Given the description of an element on the screen output the (x, y) to click on. 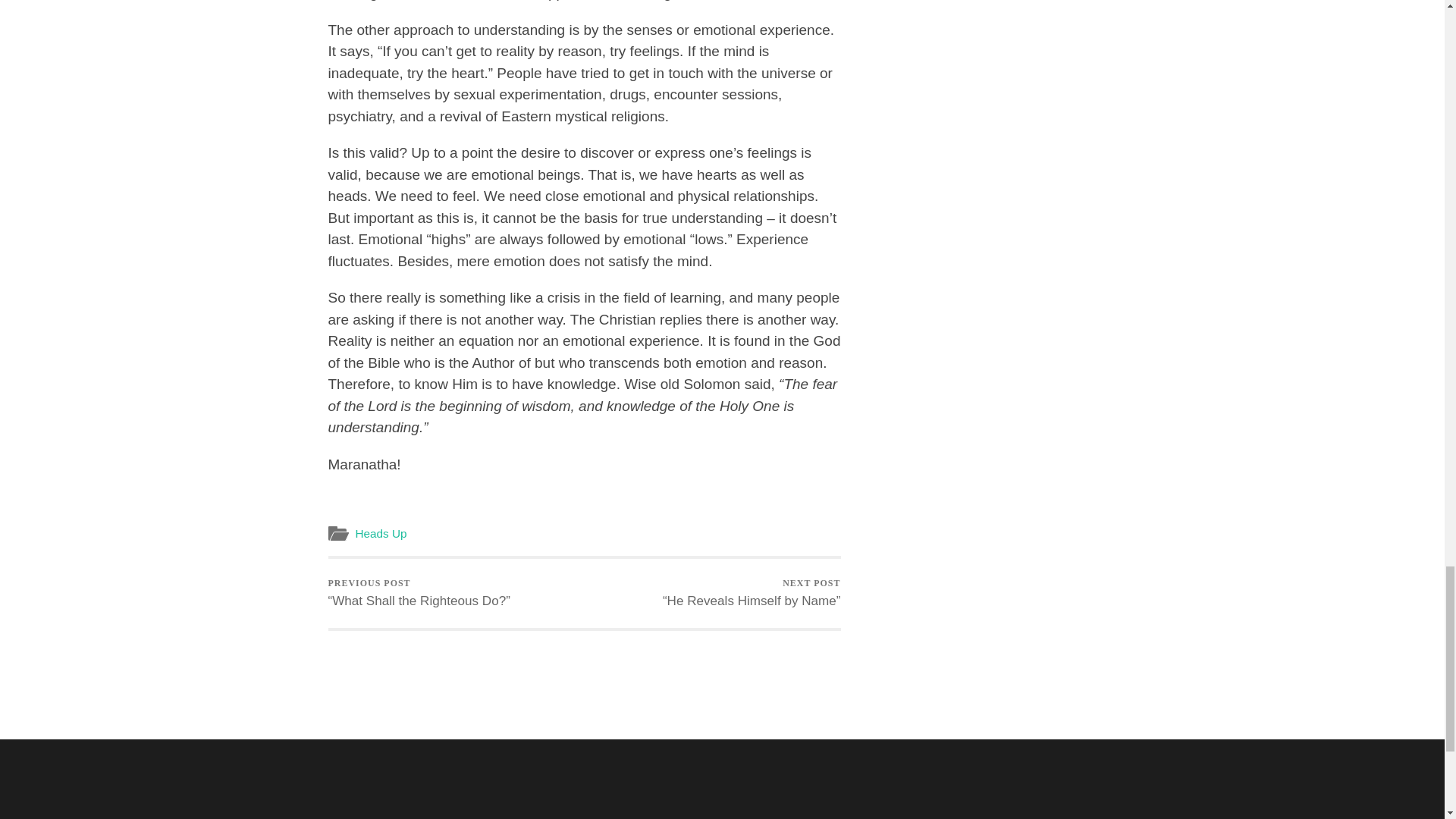
Heads Up (380, 533)
